Given the description of an element on the screen output the (x, y) to click on. 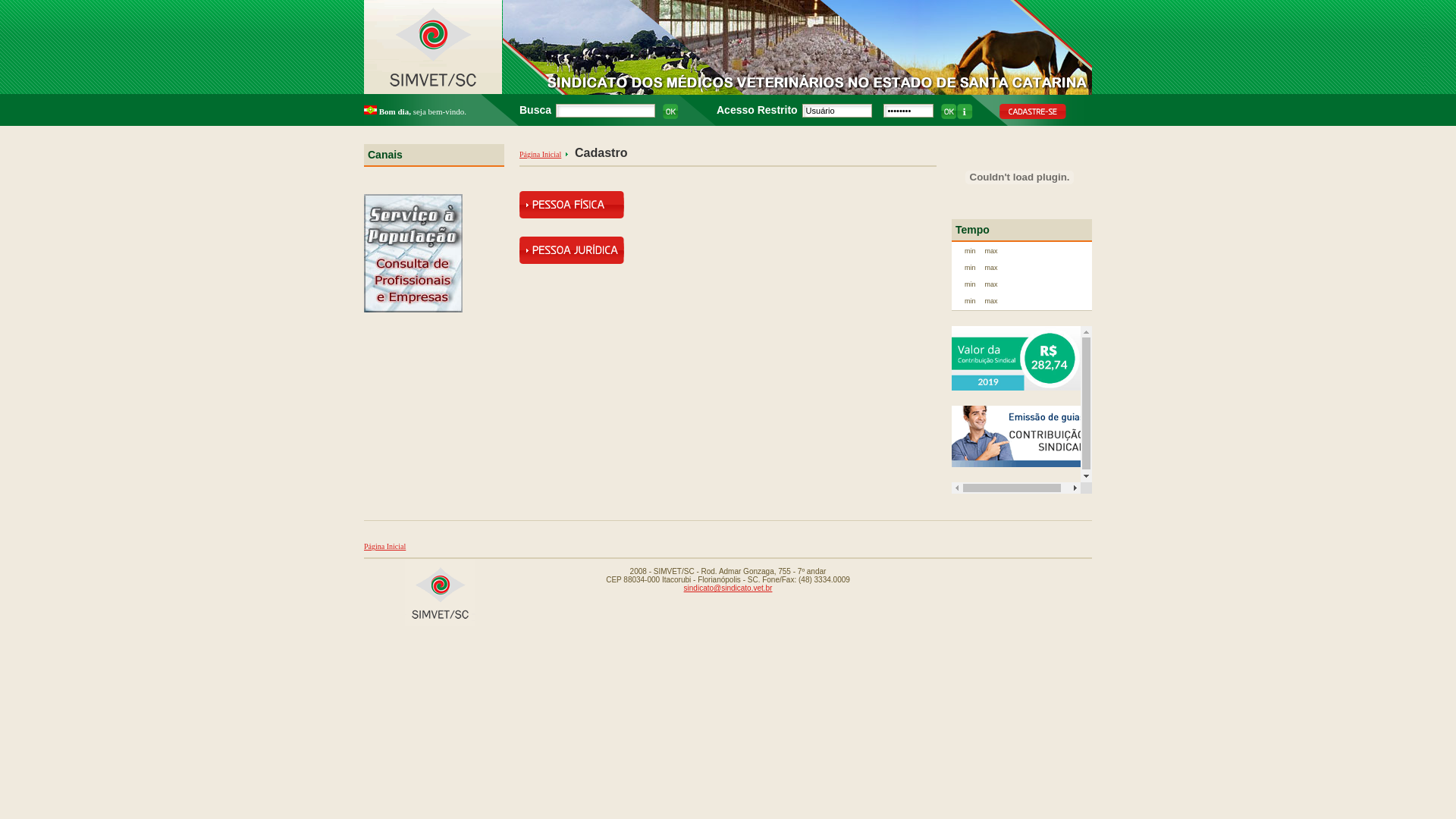
Bem-vindo Element type: hover (370, 109)
Cadastre-se Element type: hover (1032, 111)
Consulta de Empresas e Profissionais Element type: hover (413, 308)
Consulta de Empresas e Profissionais Element type: hover (413, 253)
seta Element type: hover (566, 153)
sindicato@sindicato.vet.br Element type: text (728, 587)
